Given the description of an element on the screen output the (x, y) to click on. 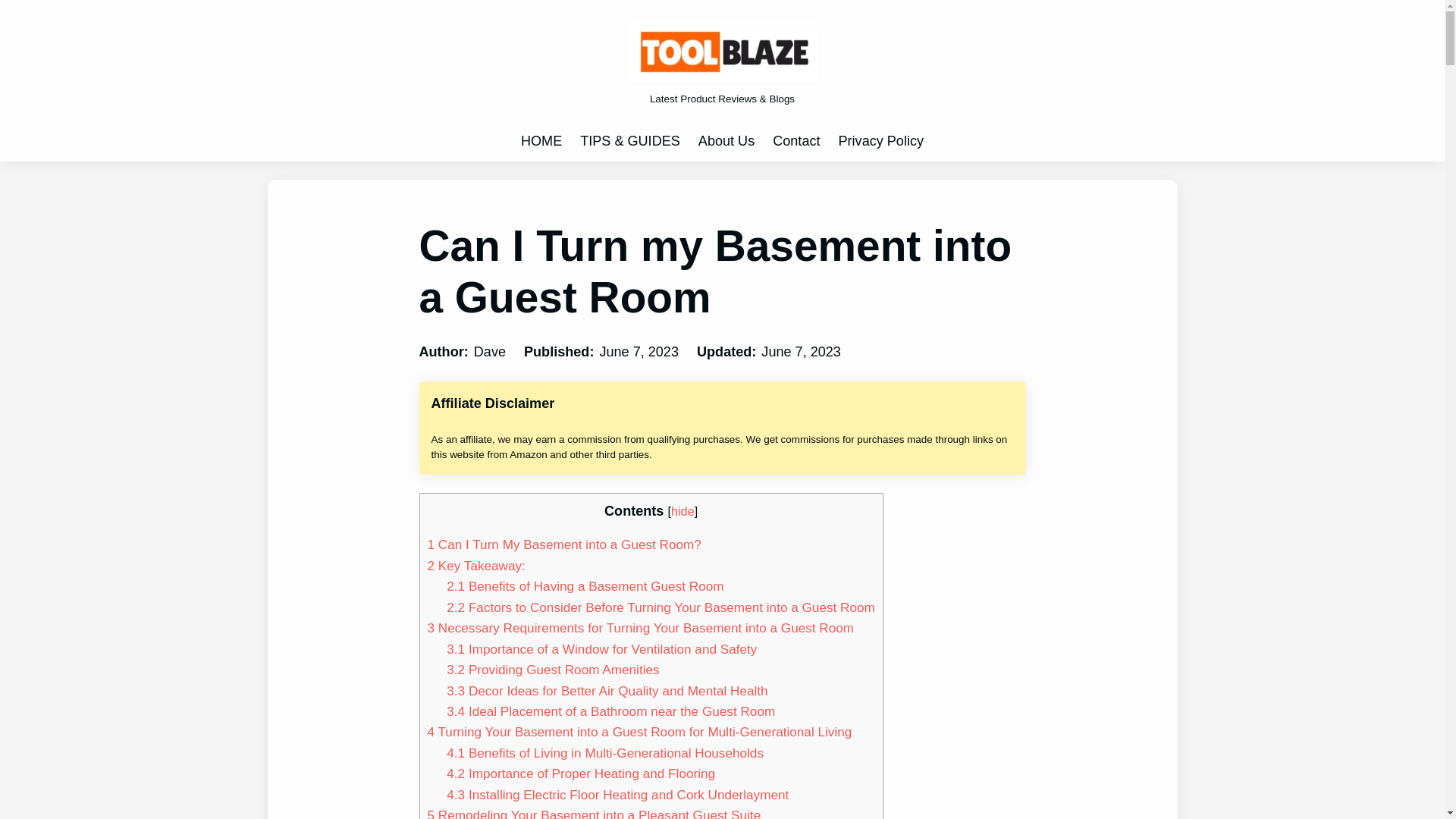
Privacy Policy (881, 141)
3.4 Ideal Placement of a Bathroom near the Guest Room (610, 711)
HOME (541, 141)
4.2 Importance of Proper Heating and Flooring (580, 773)
3.2 Providing Guest Room Amenities (552, 669)
5 Remodeling Your Basement into a Pleasant Guest Suite (594, 813)
4.3 Installing Electric Floor Heating and Cork Underlayment (617, 794)
About Us (726, 141)
